Given the description of an element on the screen output the (x, y) to click on. 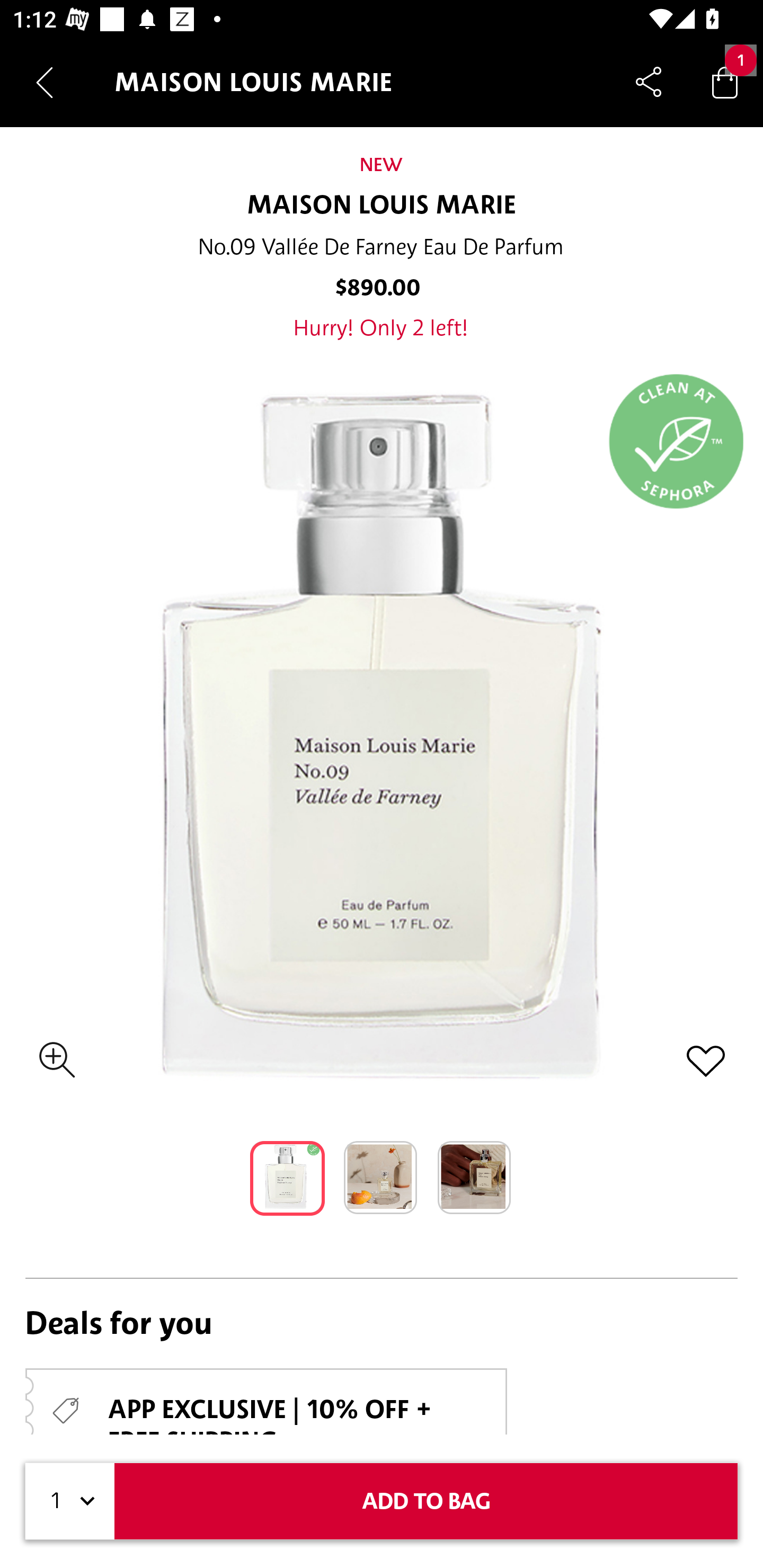
Navigate up (44, 82)
Share (648, 81)
Bag (724, 81)
MAISON LOUIS MARIE (381, 205)
1 (69, 1500)
ADD TO BAG (425, 1500)
